Given the description of an element on the screen output the (x, y) to click on. 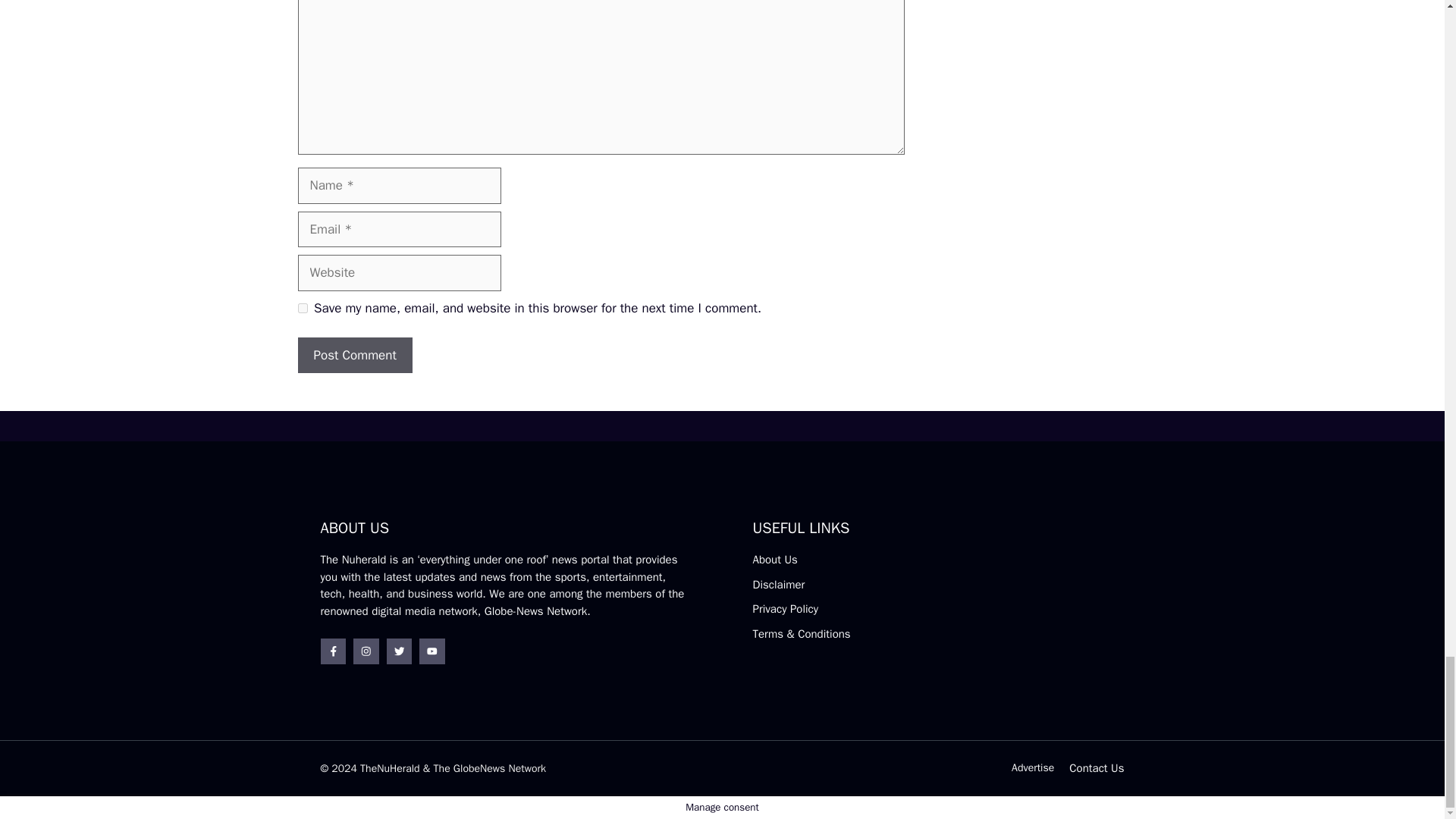
About Us (774, 559)
Disclaimer (778, 584)
Advertise (1032, 767)
yes (302, 307)
Privacy Policy (785, 608)
Post Comment (354, 355)
Contact Us (1096, 767)
Post Comment (354, 355)
